Given the description of an element on the screen output the (x, y) to click on. 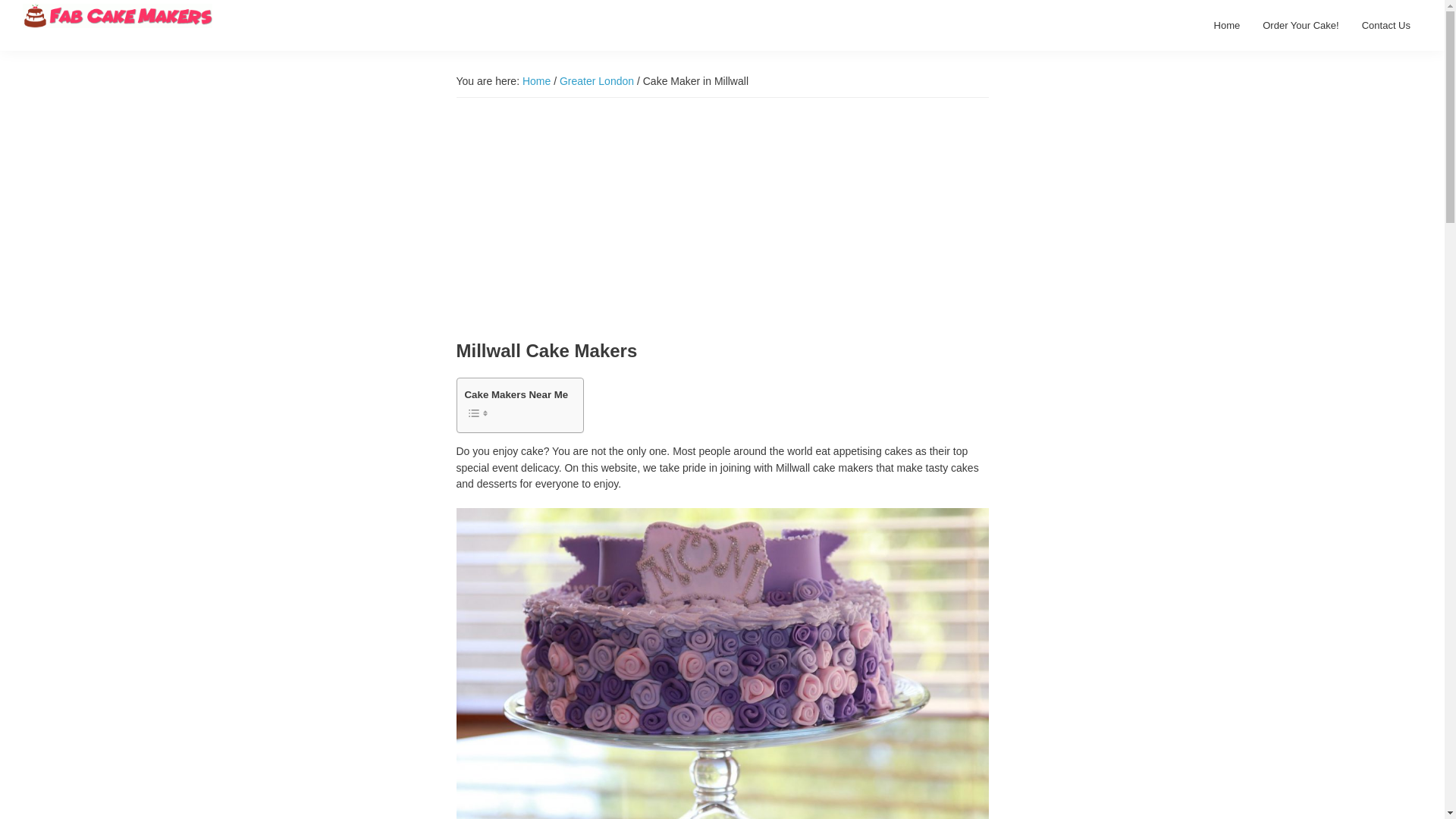
Order Your Cake! (1299, 25)
Home (536, 80)
Greater London (596, 80)
Contact Us (1386, 25)
Advertisement (722, 219)
Home (1227, 25)
Click Here to Get Started! (1299, 25)
